Given the description of an element on the screen output the (x, y) to click on. 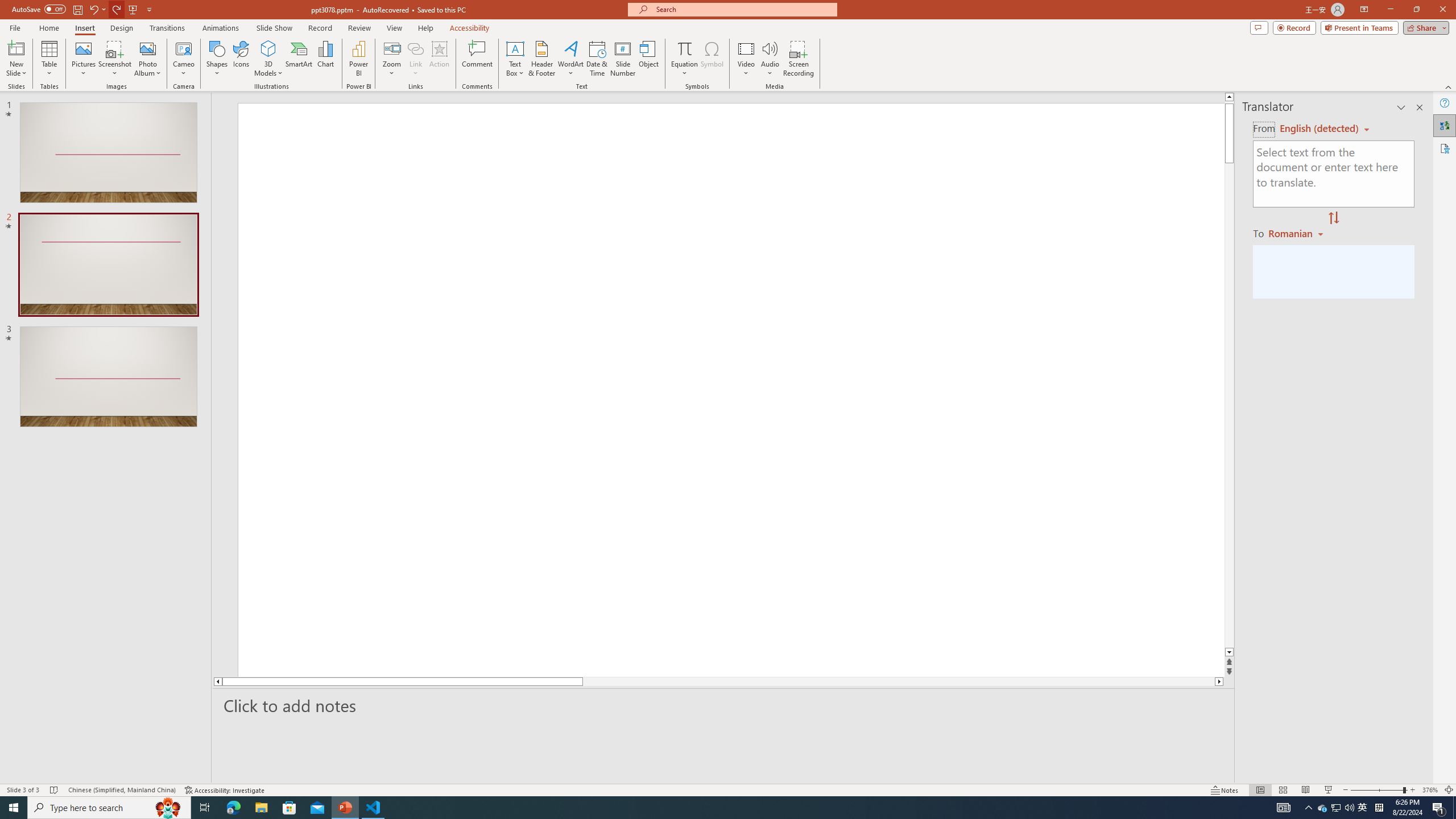
Comment (476, 58)
Video (745, 58)
Icons (240, 58)
